Given the description of an element on the screen output the (x, y) to click on. 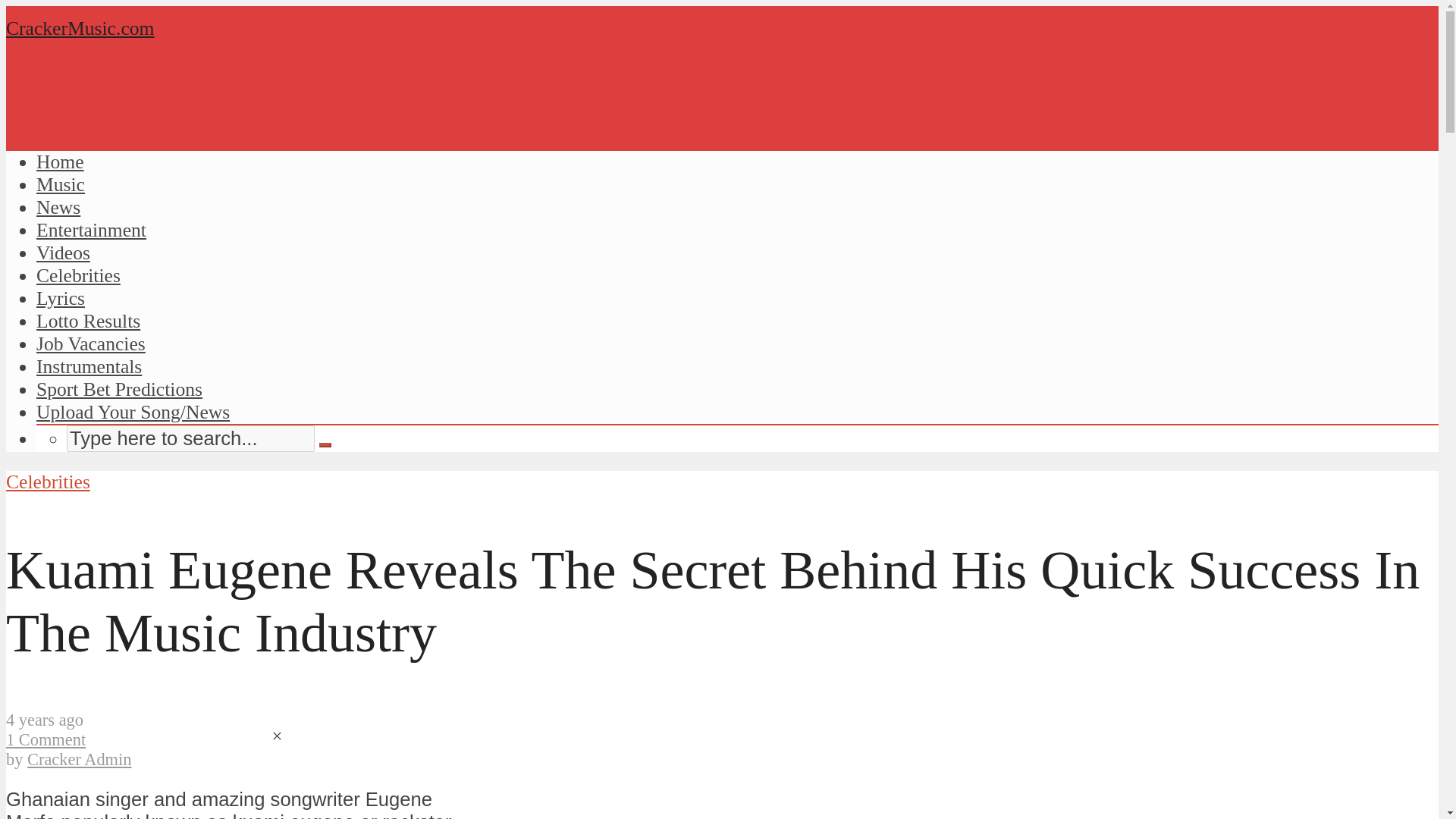
CrackerMusic.com (79, 28)
Lyrics (60, 298)
Sport Bet Predictions (119, 389)
News (58, 207)
Videos (63, 252)
Instrumentals (88, 366)
1 Comment (45, 739)
Home (60, 161)
Job Vacancies (90, 343)
Celebrities (78, 275)
Music (60, 184)
Type here to search... (190, 438)
Lotto Results (87, 321)
Entertainment (91, 229)
Celebrities (47, 481)
